Given the description of an element on the screen output the (x, y) to click on. 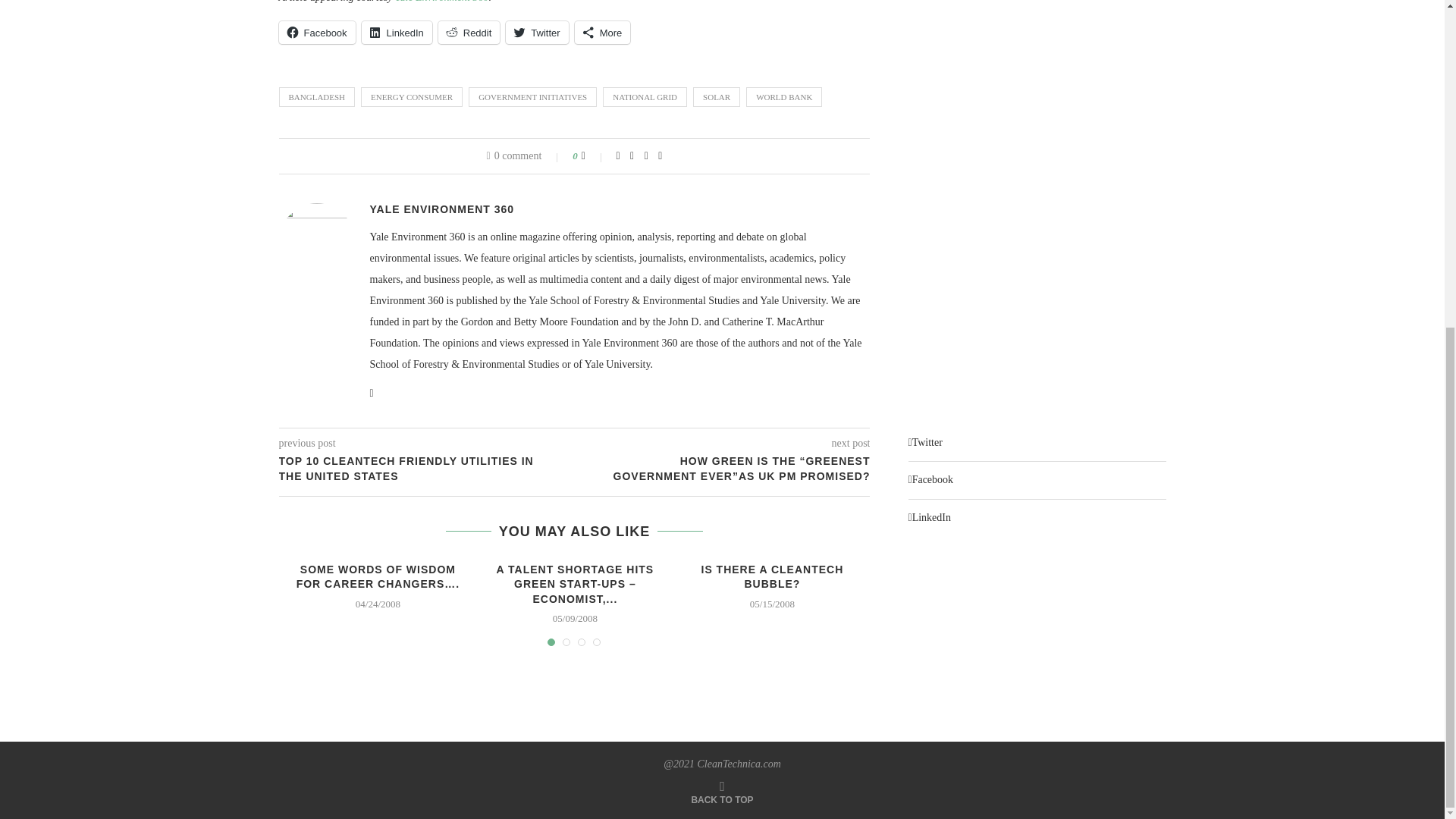
NATIONAL GRID (644, 96)
GOVERNMENT INITIATIVES (532, 96)
Facebook (317, 32)
SOLAR (716, 96)
Posts by Yale Environment 360 (442, 209)
Click to share on Reddit (469, 32)
ENERGY CONSUMER (412, 96)
Reddit (469, 32)
WORLD BANK (783, 96)
BANGLADESH (317, 96)
Click to share on Twitter (536, 32)
More (602, 32)
Twitter (536, 32)
Yale Environment 360 (440, 1)
YALE ENVIRONMENT 360 (442, 209)
